Given the description of an element on the screen output the (x, y) to click on. 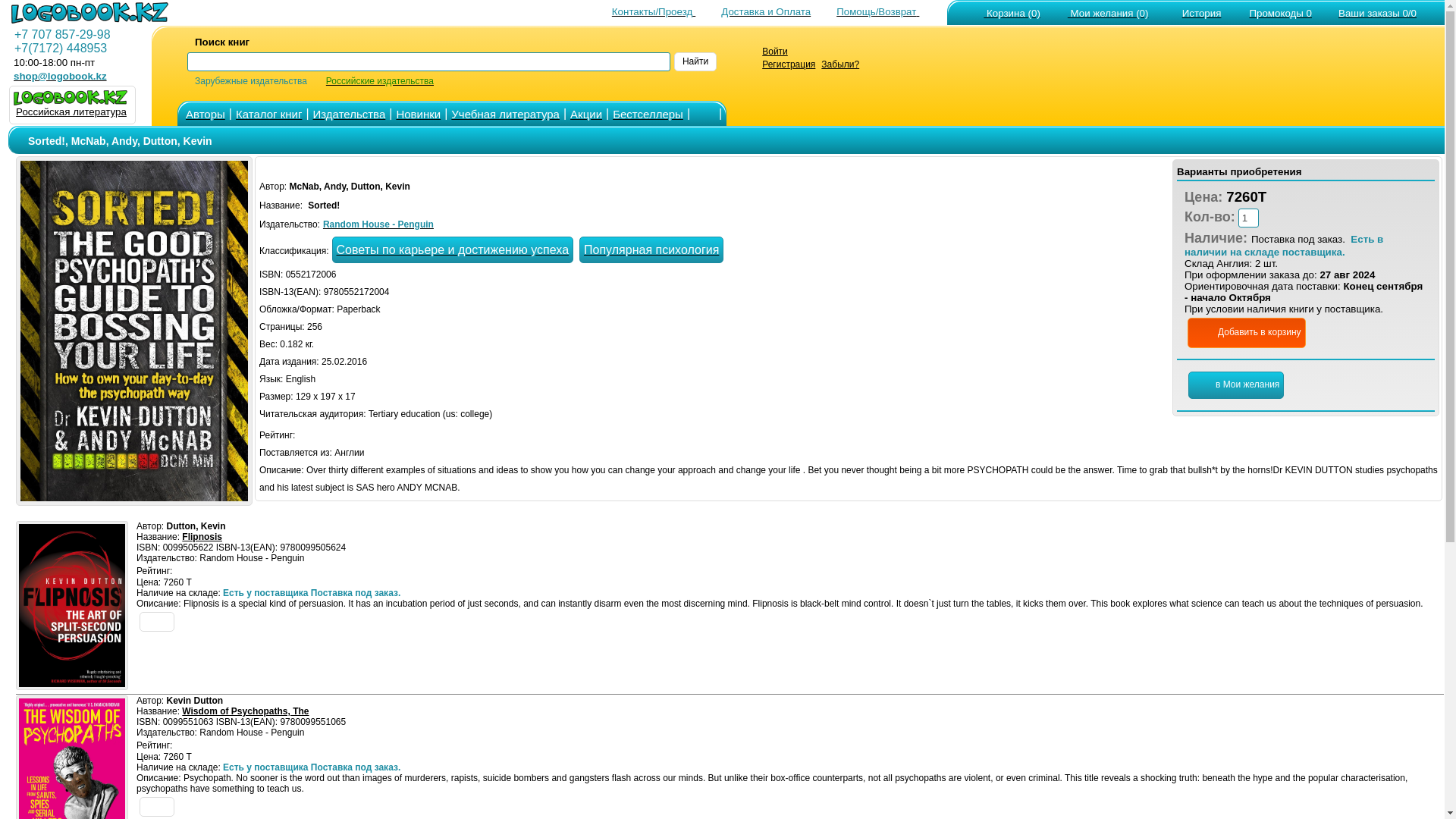
1 (1249, 217)
Flipnosis (202, 536)
Wisdom of Psychopaths, The (245, 710)
Random House - Penguin (378, 223)
